Given the description of an element on the screen output the (x, y) to click on. 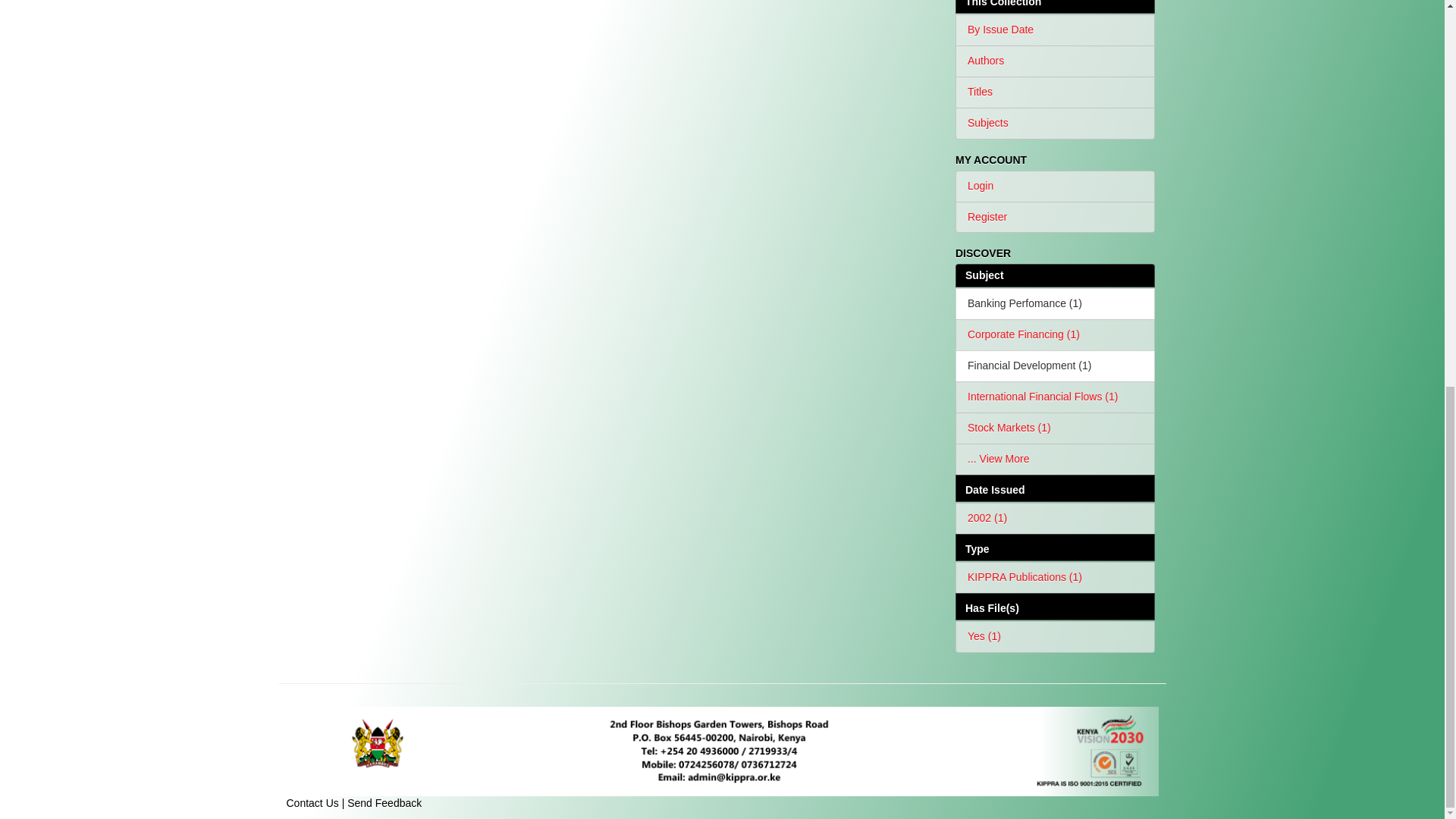
KIPPRA (722, 751)
